Given the description of an element on the screen output the (x, y) to click on. 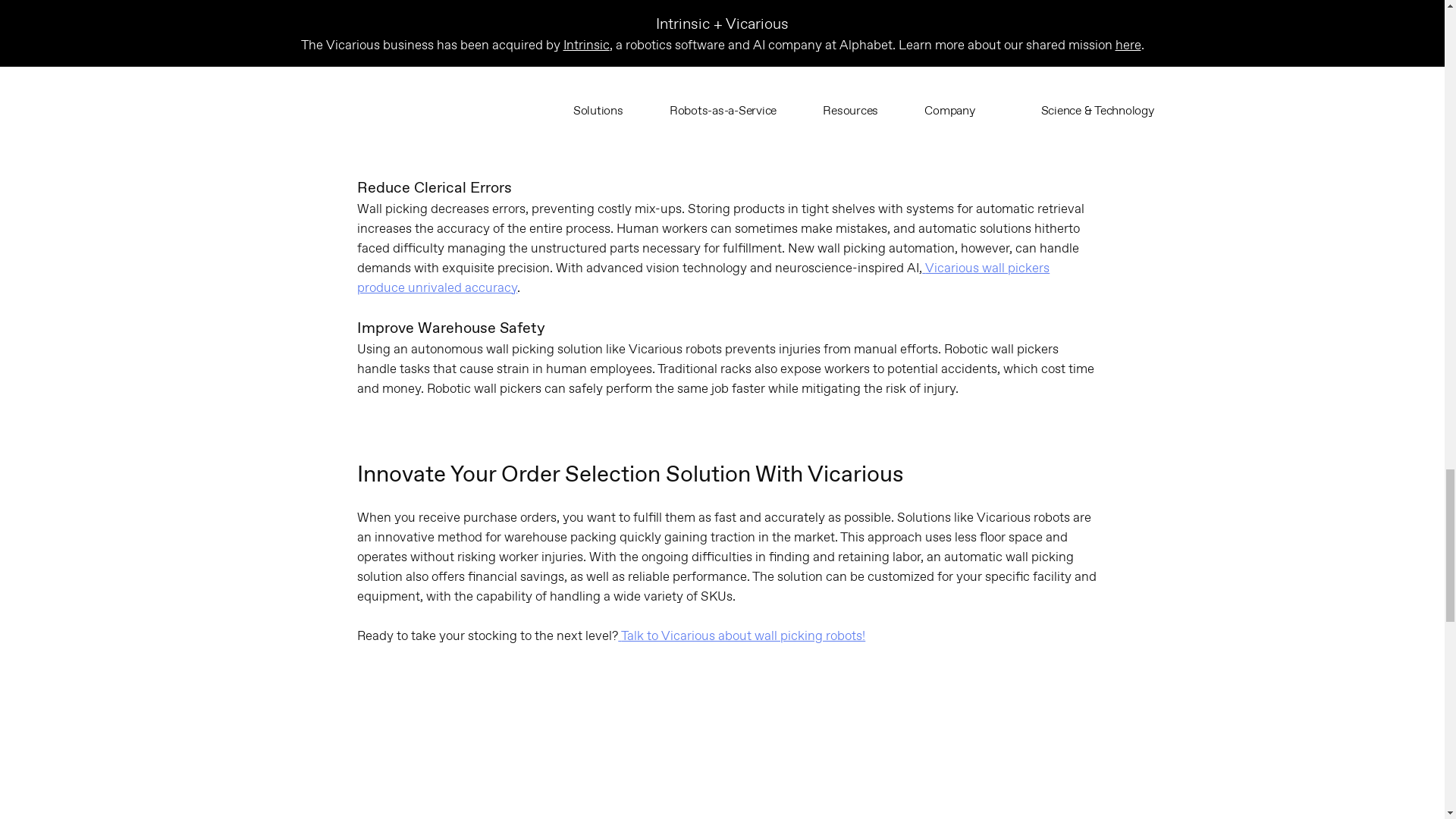
Talk to Vicarious about wall picking robots! (740, 635)
Vicarious wall pickers produce unrivaled accuracy (702, 277)
robotic wall pickers (1033, 126)
